Given the description of an element on the screen output the (x, y) to click on. 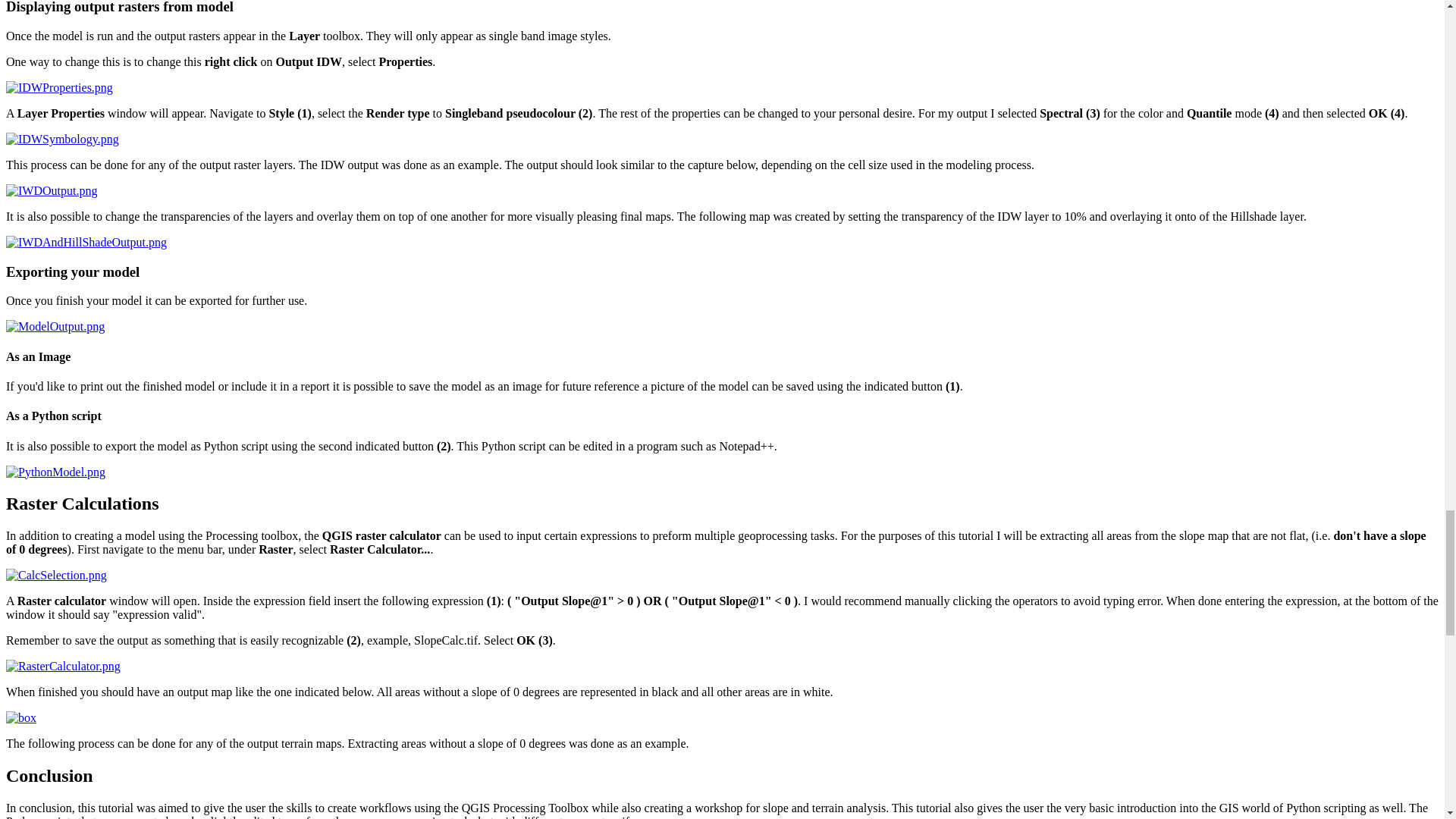
box (20, 717)
